Given the description of an element on the screen output the (x, y) to click on. 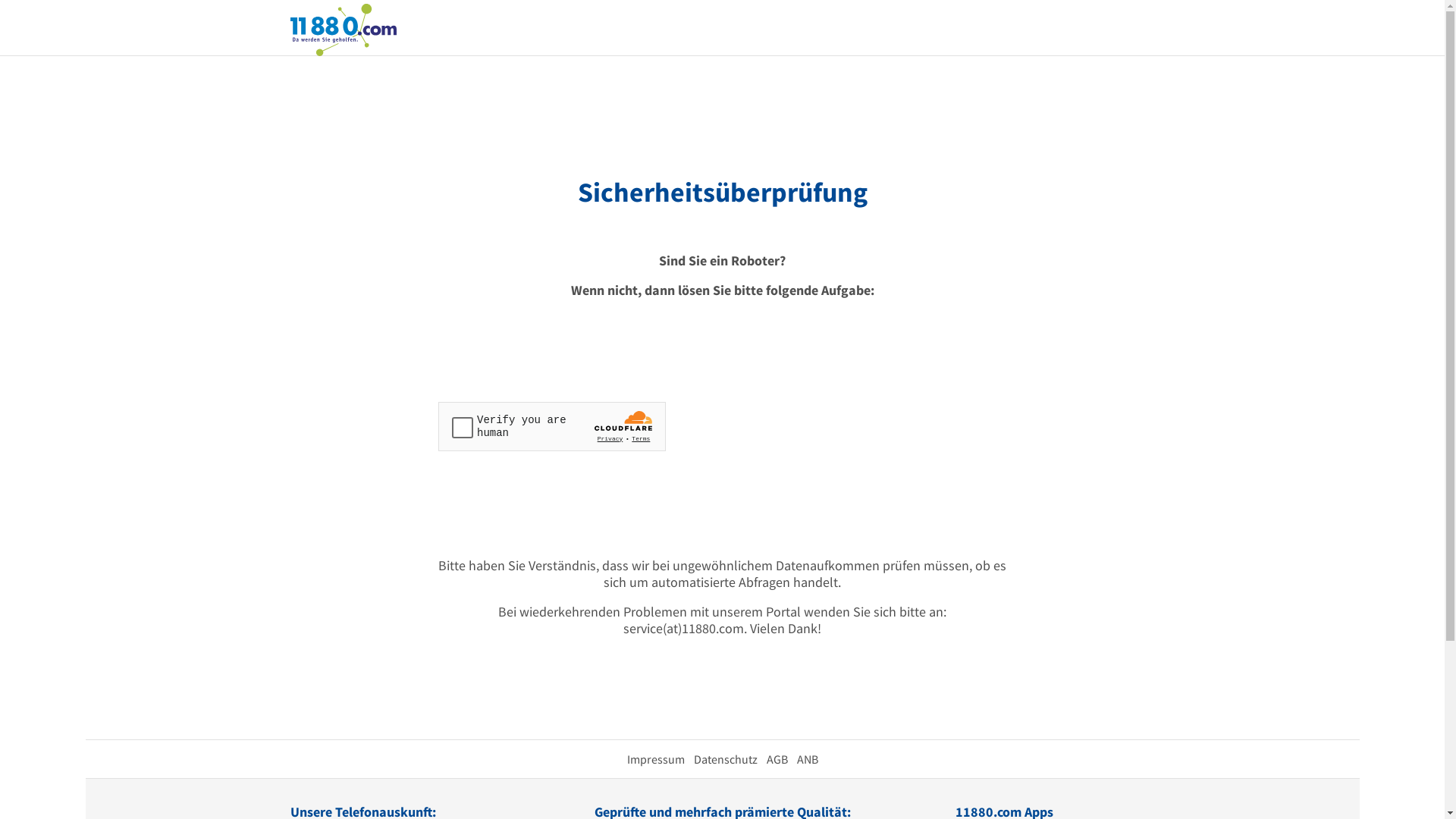
Impressum Element type: text (655, 758)
Widget containing a Cloudflare security challenge Element type: hover (551, 426)
AGB Element type: text (776, 758)
ANB Element type: text (806, 758)
Datenschutz Element type: text (724, 758)
11880.com Element type: hover (342, 28)
